Given the description of an element on the screen output the (x, y) to click on. 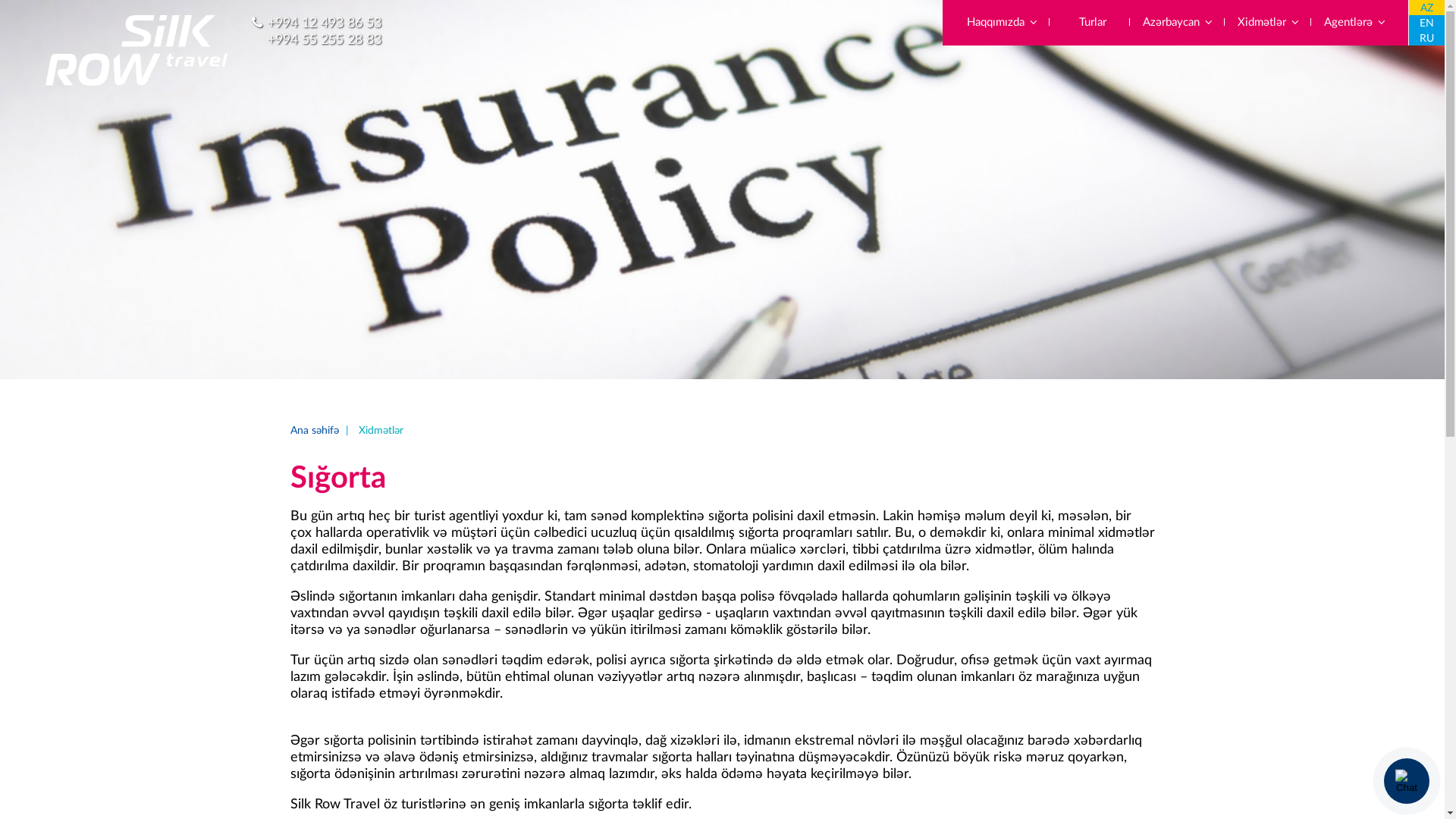
EN Element type: text (1426, 22)
+994 55 255 28 83 Element type: text (324, 40)
AZ Element type: text (1426, 7)
+994 12 493 86 53 Element type: text (324, 23)
RU Element type: text (1426, 37)
Turlar Element type: text (1091, 22)
